Given the description of an element on the screen output the (x, y) to click on. 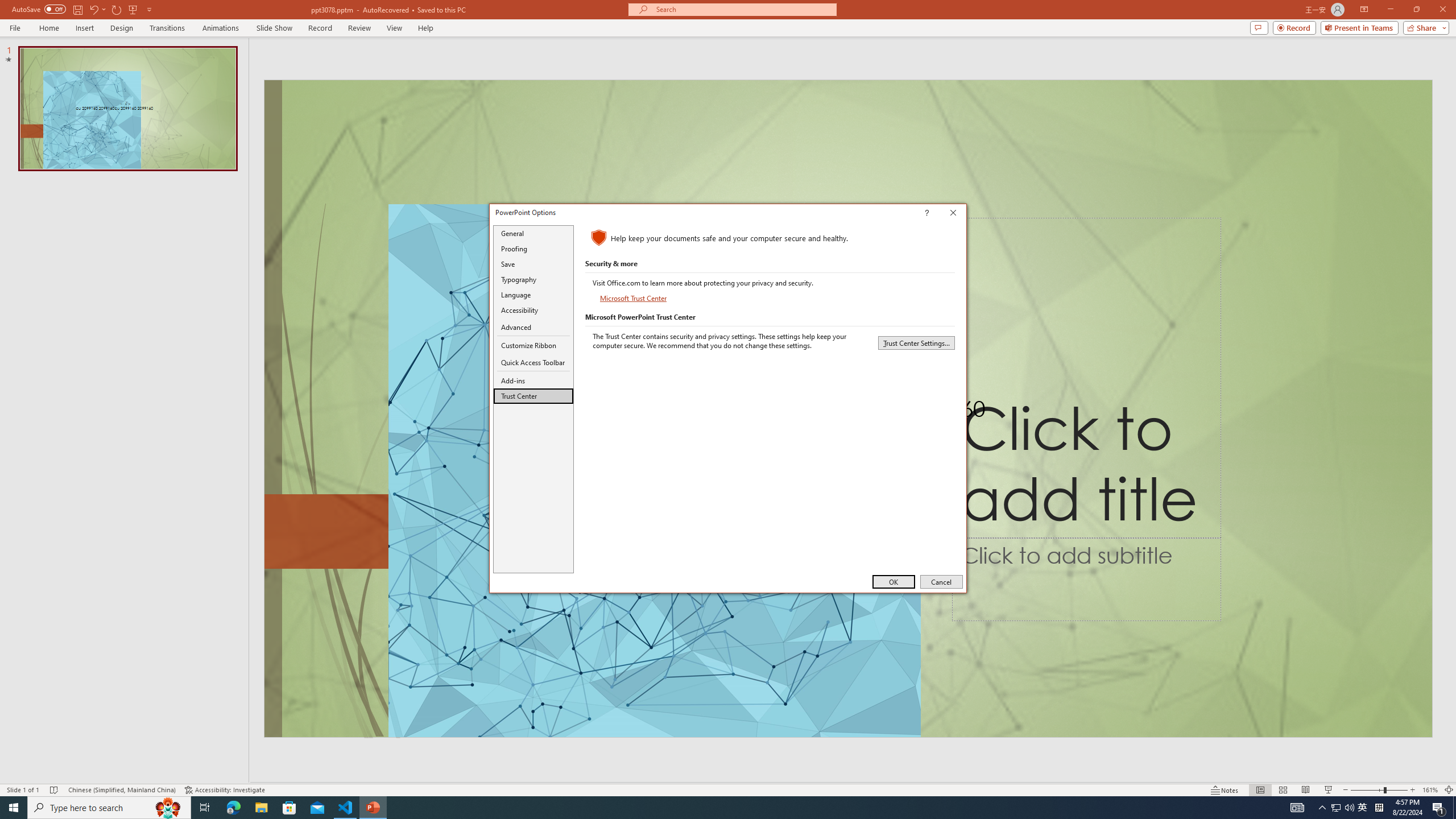
Proofing (533, 248)
Add-ins (533, 380)
